Given the description of an element on the screen output the (x, y) to click on. 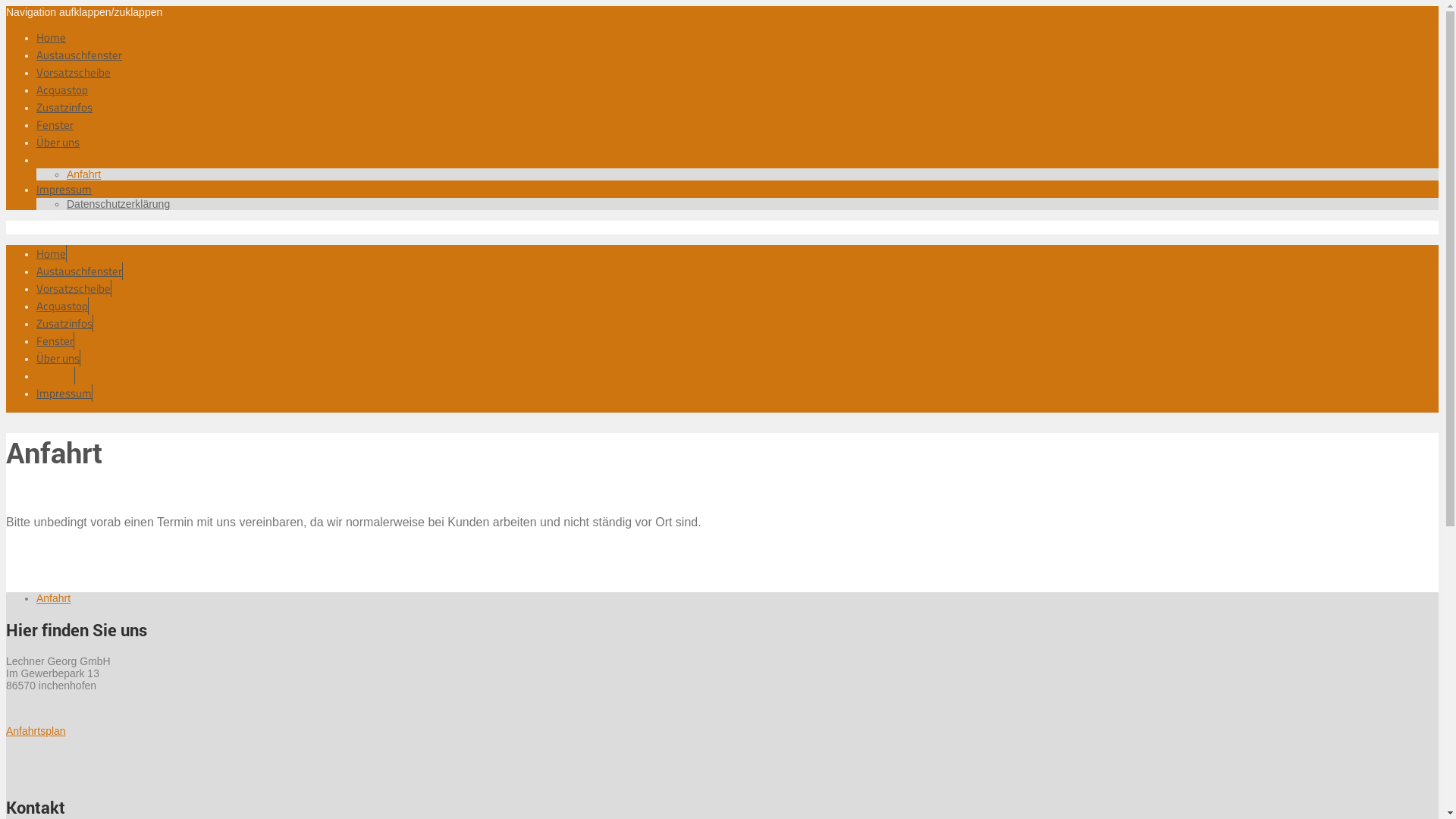
Impressum Element type: text (63, 188)
Kontakt Element type: text (55, 375)
Fenster Element type: text (55, 340)
Impressum Element type: text (64, 392)
Anfahrtsplan Element type: text (35, 730)
Home Element type: text (50, 37)
Navigation aufklappen/zuklappen Element type: text (84, 12)
Zusatzinfos Element type: text (64, 323)
Fenster Element type: text (54, 124)
Zusatzinfos Element type: text (64, 107)
Acquastop Element type: text (61, 89)
Vorsatzscheibe Element type: text (73, 72)
Home Element type: text (51, 253)
Vorsatzscheibe Element type: text (73, 288)
Austauschfenster Element type: text (79, 54)
Austauschfenster Element type: text (79, 270)
Kontakt Element type: text (55, 159)
Acquastop Element type: text (62, 305)
Anfahrt Element type: text (53, 598)
Anfahrt Element type: text (83, 174)
